Given the description of an element on the screen output the (x, y) to click on. 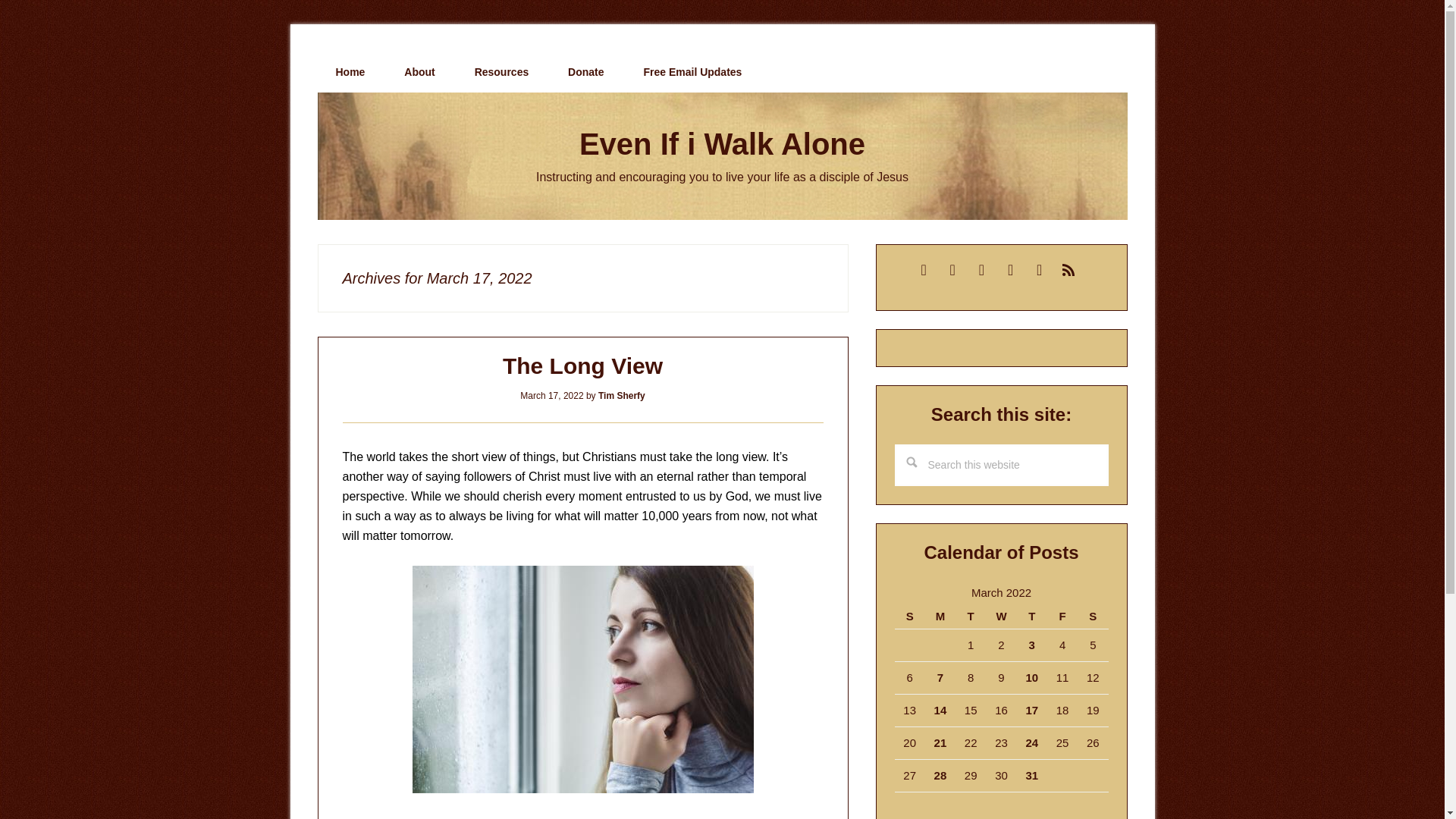
Wednesday (1000, 616)
Donate (585, 71)
17 (1031, 709)
14 (940, 709)
twitter (981, 268)
Facebook (1010, 268)
Resources (502, 71)
Even If i Walk Alone (721, 143)
Default Label (1068, 268)
